Given the description of an element on the screen output the (x, y) to click on. 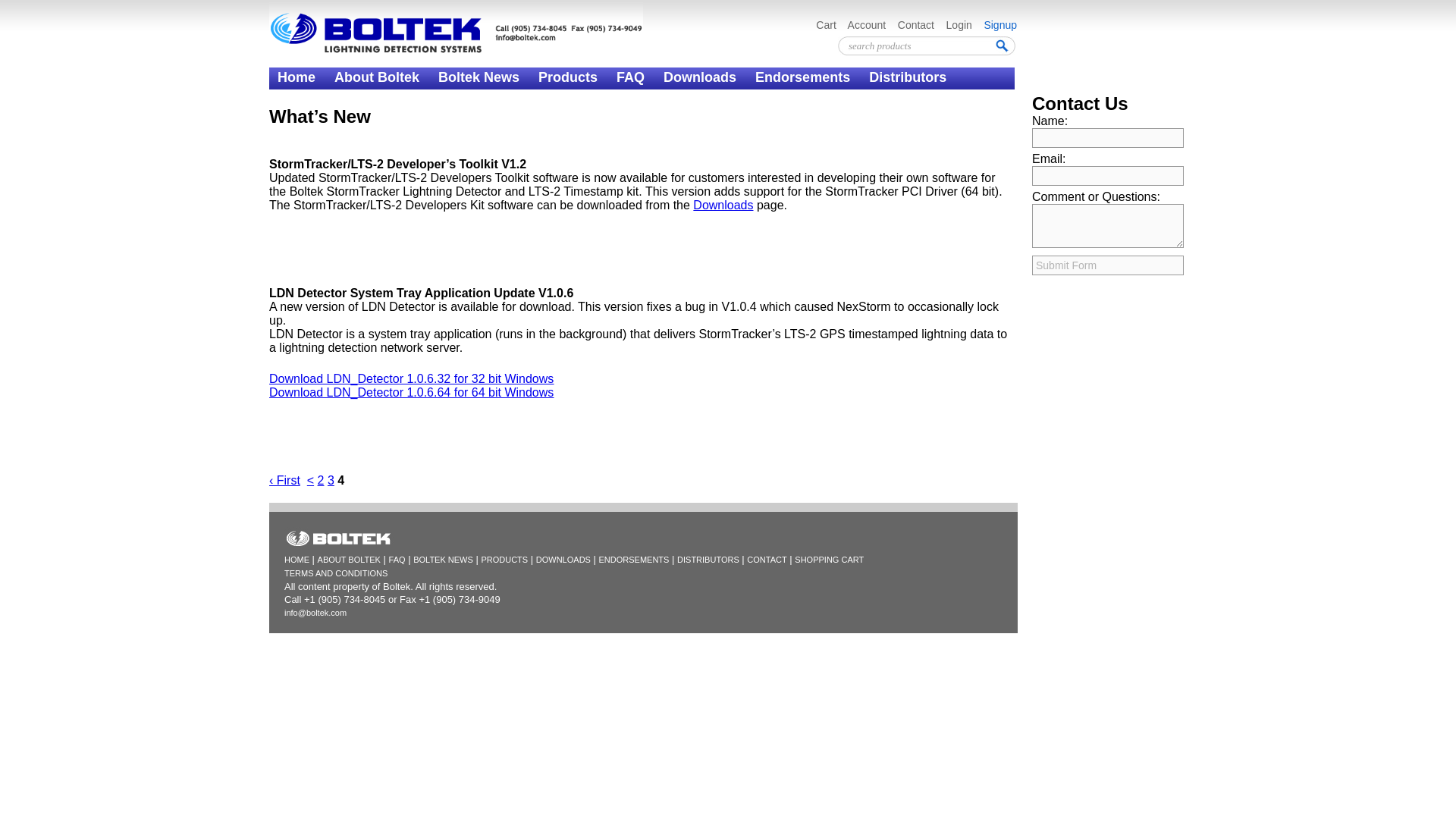
Downloads (699, 77)
Account (866, 24)
Contact Boltek (326, 104)
HOME (295, 559)
Cart (826, 24)
Distributors (907, 77)
Contact (916, 24)
FAQ (397, 559)
Home (296, 77)
Products (567, 77)
Endorsements (802, 77)
FAQ (630, 77)
About Boltek (376, 77)
ABOUT BOLTEK (348, 559)
Downloads (722, 205)
